Given the description of an element on the screen output the (x, y) to click on. 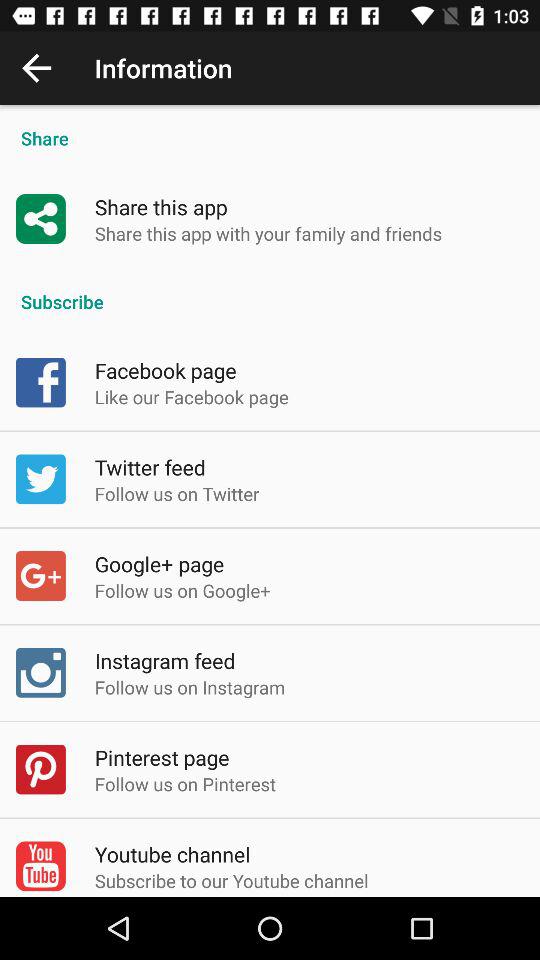
back (36, 68)
